Given the description of an element on the screen output the (x, y) to click on. 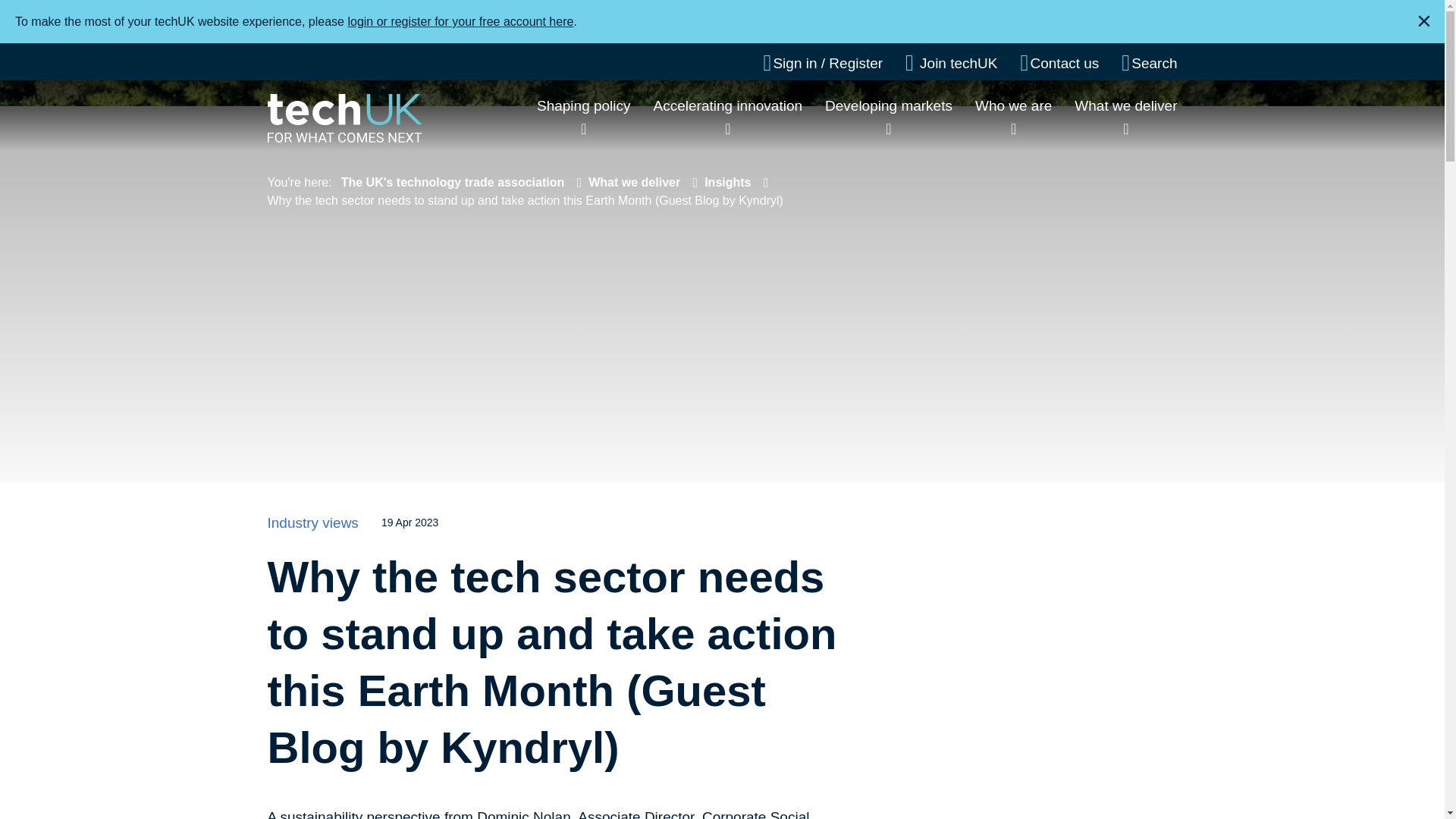
Shaping policy (583, 105)
Join techUK (951, 62)
Search (1148, 62)
login or register for your free account here (460, 21)
Accelerating innovation (727, 105)
Contact us (1059, 62)
